Given the description of an element on the screen output the (x, y) to click on. 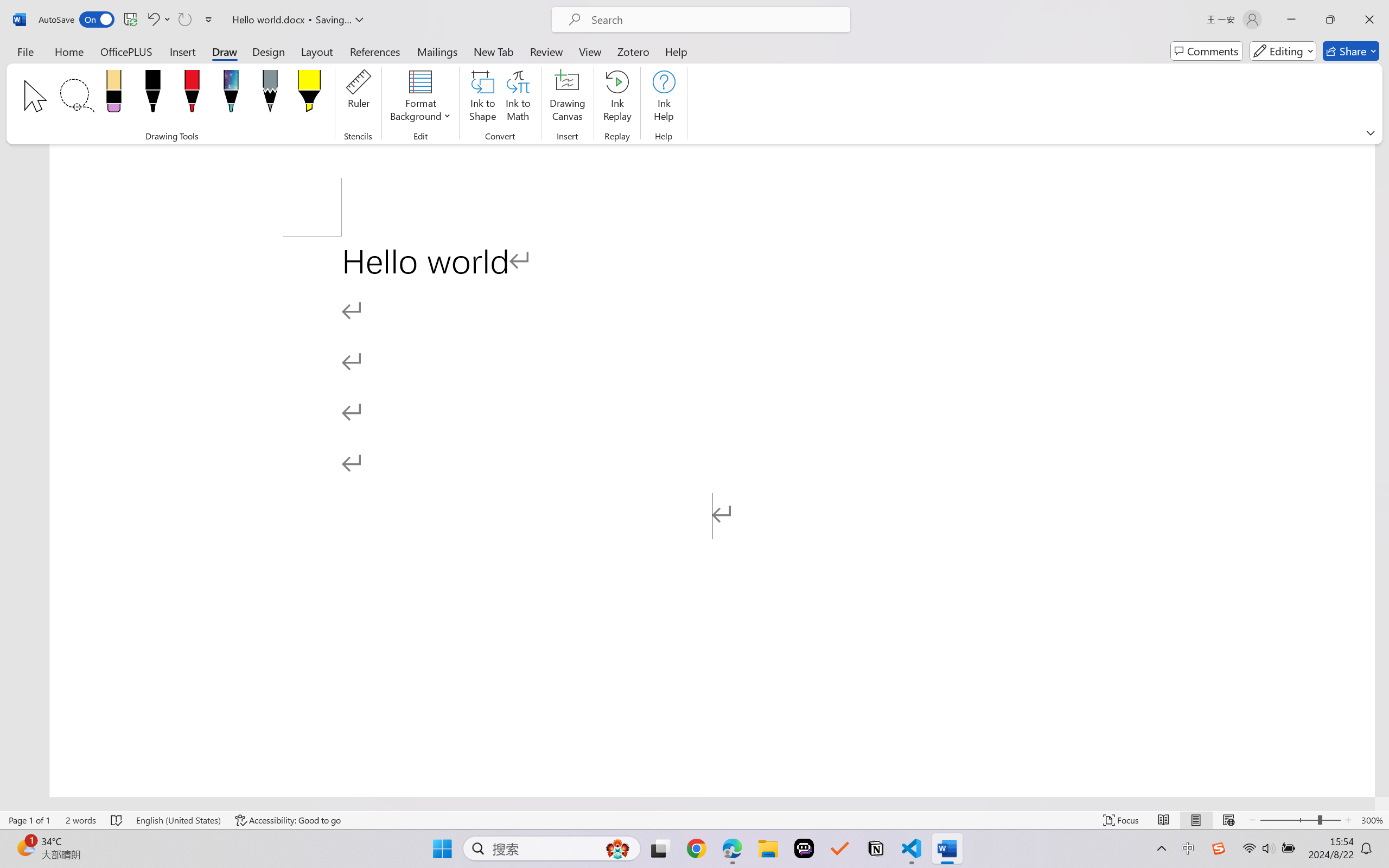
Insert (182, 51)
Language English (United States) (178, 819)
Can't Repeat (184, 19)
Ink Replay (617, 97)
Pen: Black, 0.5 mm (152, 94)
Drawing Canvas (567, 97)
Zoom In (1348, 819)
Review (546, 51)
Save (130, 19)
Ribbon Display Options (1370, 132)
Home (69, 51)
Print Layout (1196, 819)
